Given the description of an element on the screen output the (x, y) to click on. 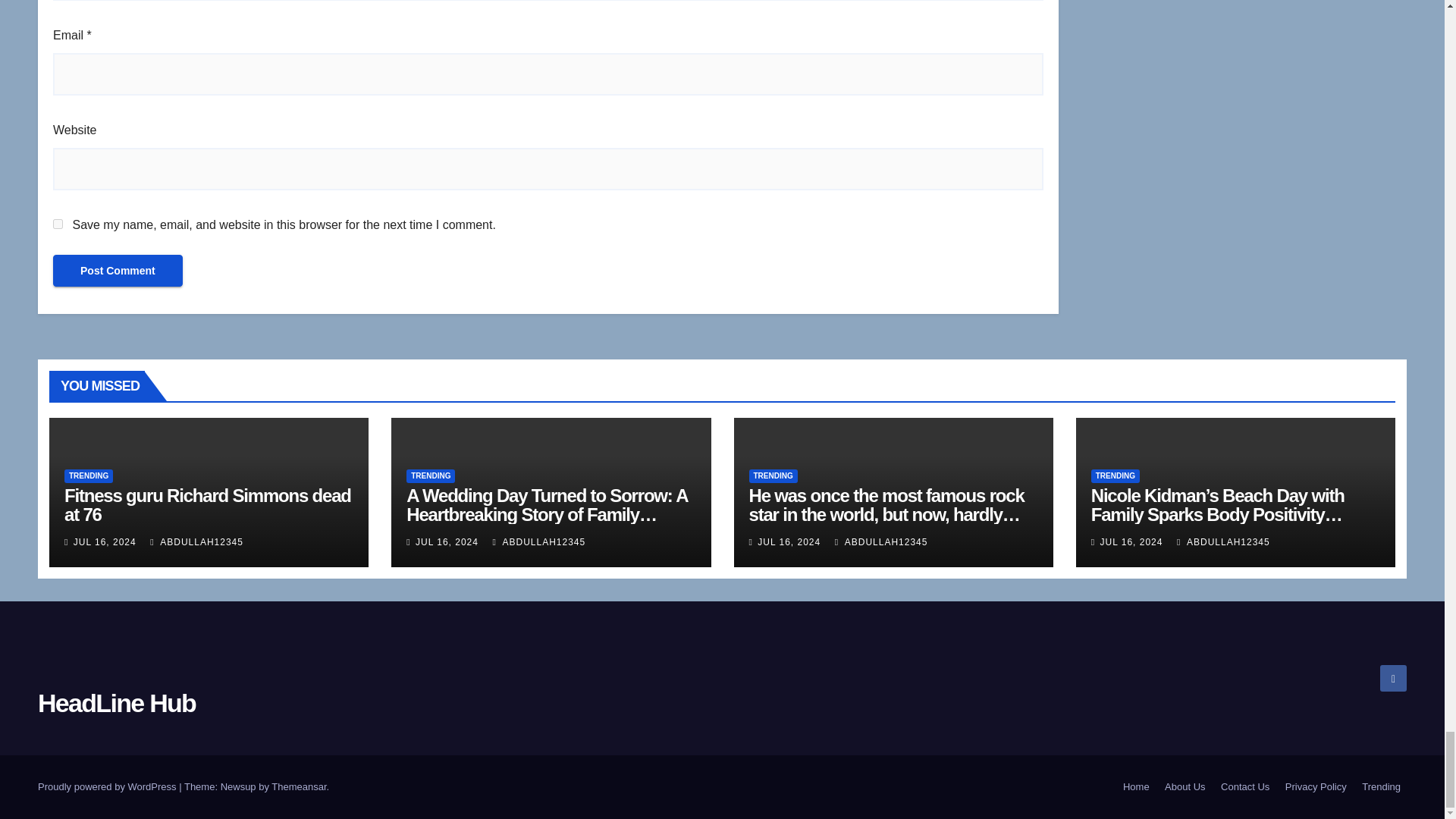
Permalink to: Fitness guru Richard Simmons dead at 76 (207, 504)
yes (57, 224)
Post Comment (117, 270)
